Given the description of an element on the screen output the (x, y) to click on. 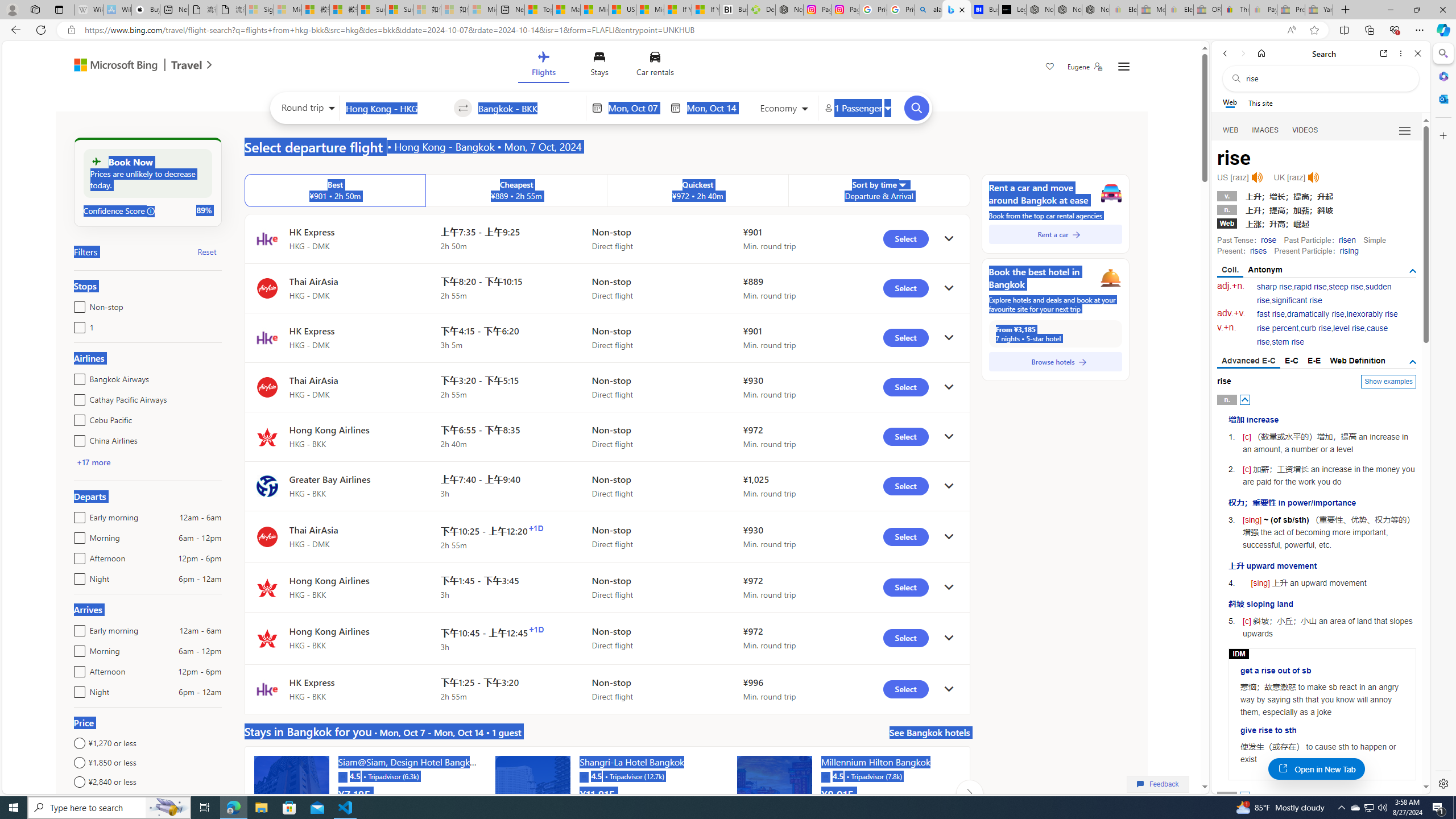
rise percent (1277, 328)
Afternoon12pm - 6pm (76, 669)
level rise (1349, 328)
Microsoft account | Account Checkup - Sleeping (483, 9)
E-E (1314, 360)
Search the web (1326, 78)
Cebu Pacific (76, 417)
